Given the description of an element on the screen output the (x, y) to click on. 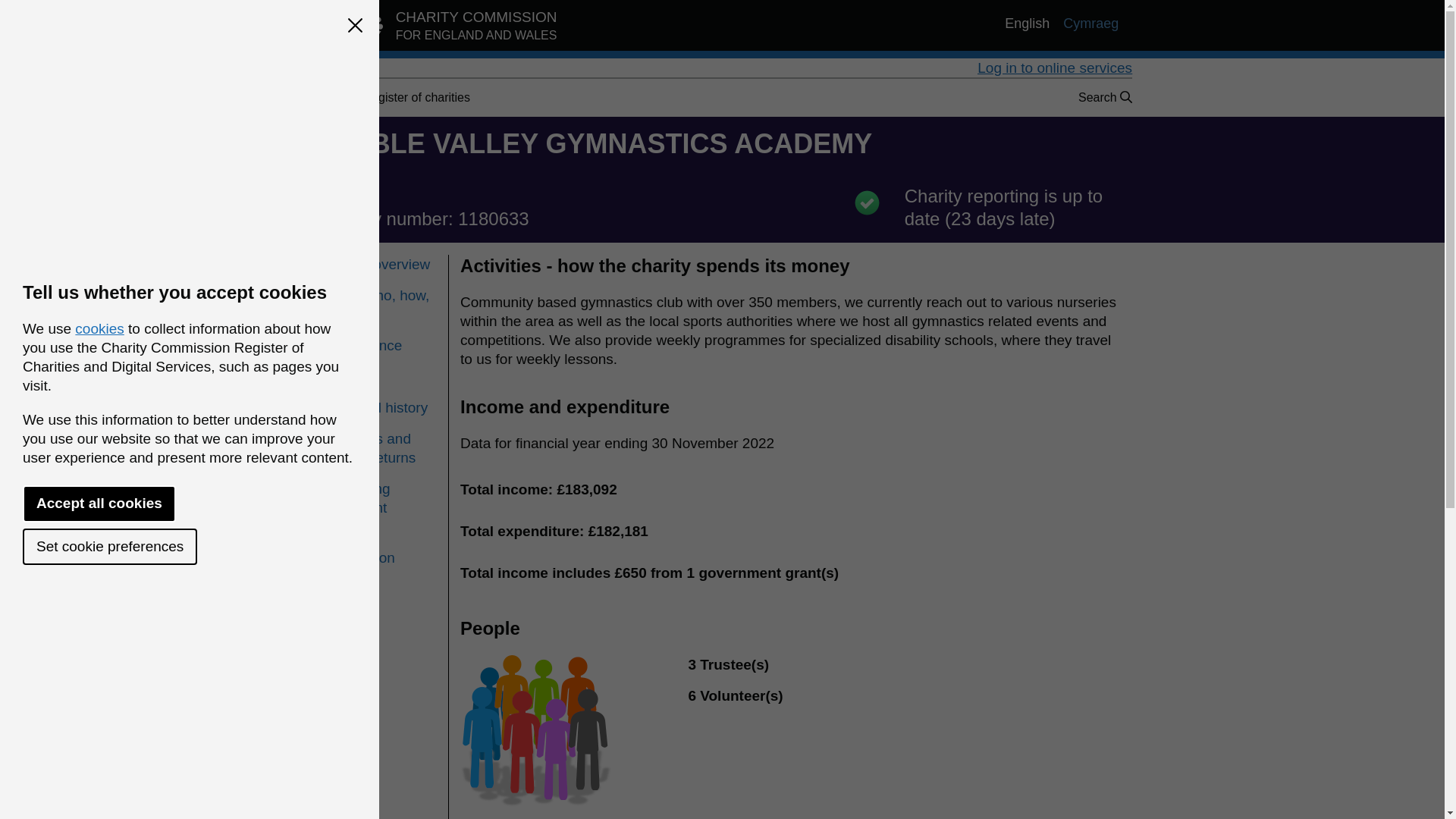
Accept all cookies (99, 503)
Governing document (379, 497)
Trustees (439, 28)
Set cookie preferences (379, 375)
Charity overview (109, 546)
Governance (379, 263)
Log in to online services (379, 344)
Financial history (1054, 67)
Contact information (379, 407)
